Given the description of an element on the screen output the (x, y) to click on. 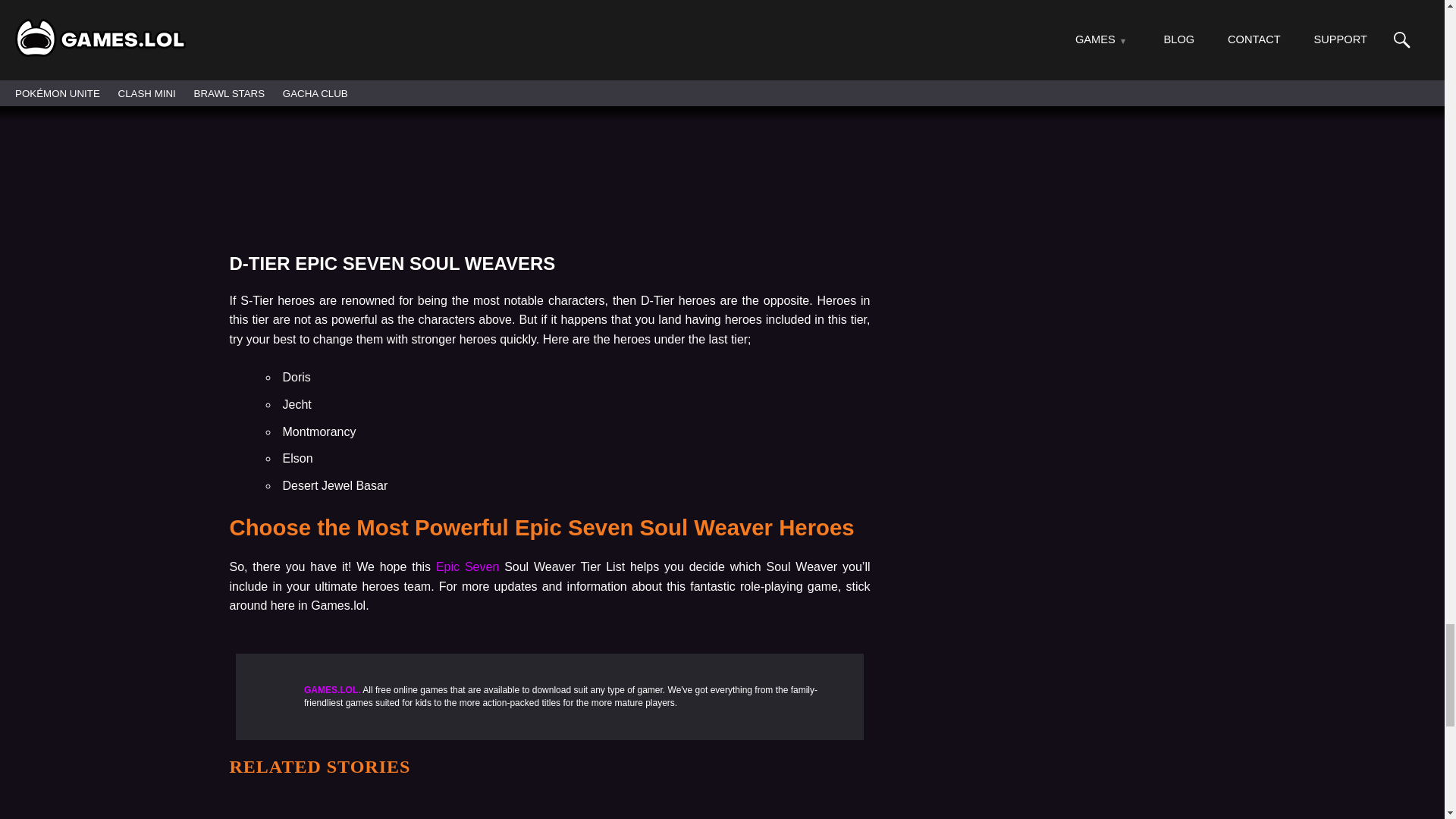
Epic seven aither (549, 97)
